Given the description of an element on the screen output the (x, y) to click on. 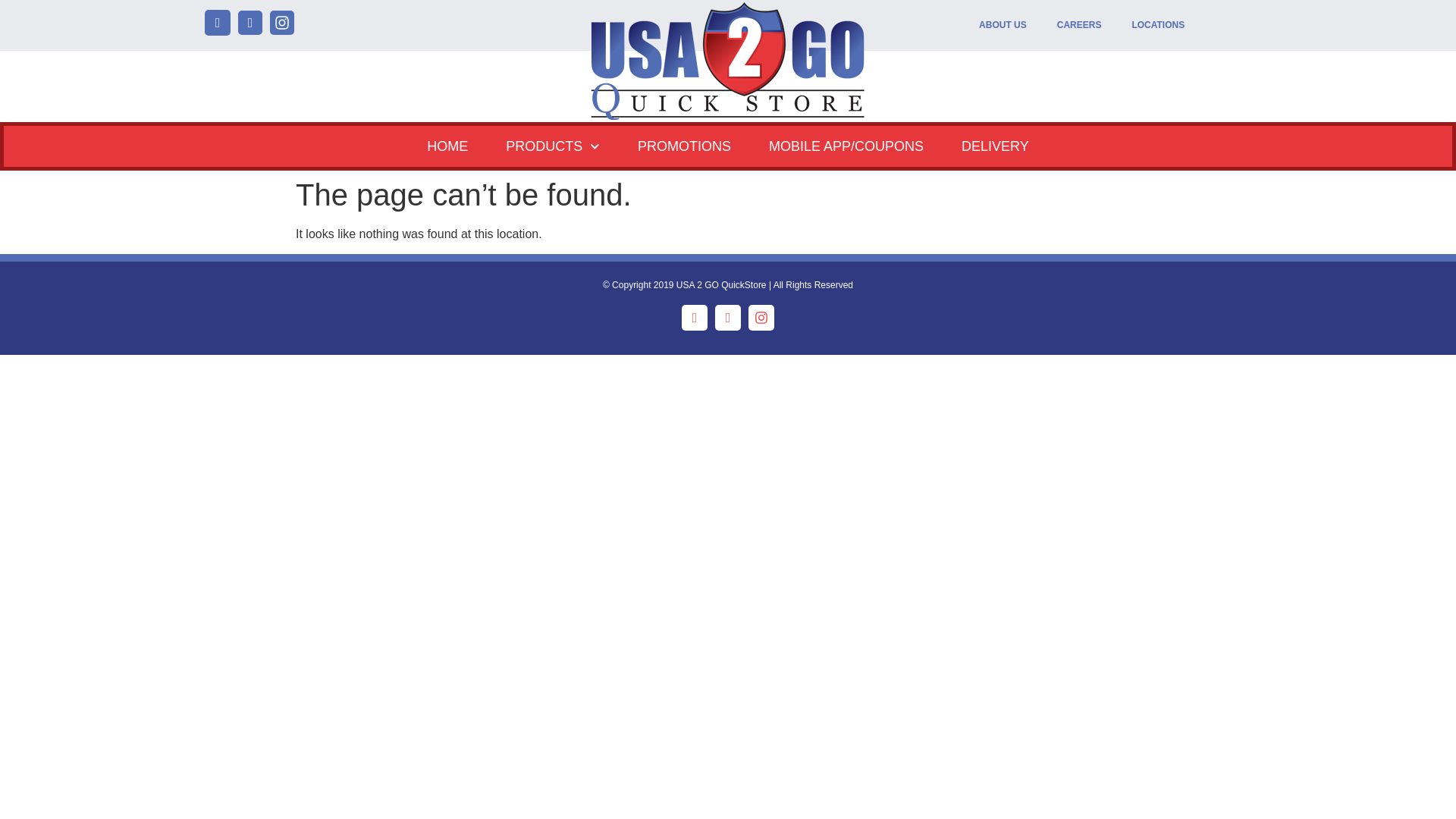
LOCATIONS (1157, 25)
CAREERS (1079, 25)
PRODUCTS (552, 145)
ABOUT US (1002, 25)
HOME (446, 145)
